Given the description of an element on the screen output the (x, y) to click on. 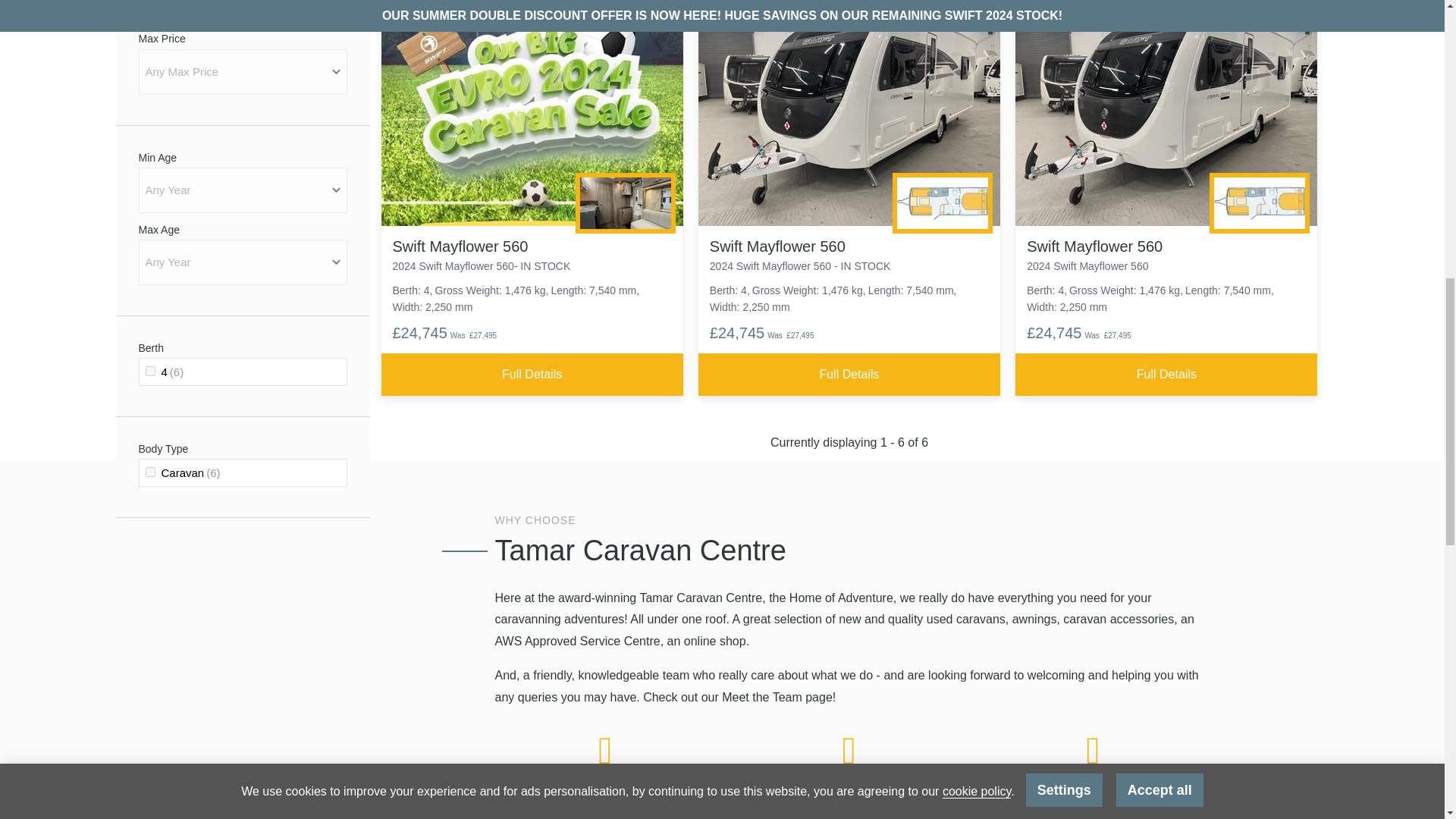
4 (150, 370)
caravan (150, 471)
